Given the description of an element on the screen output the (x, y) to click on. 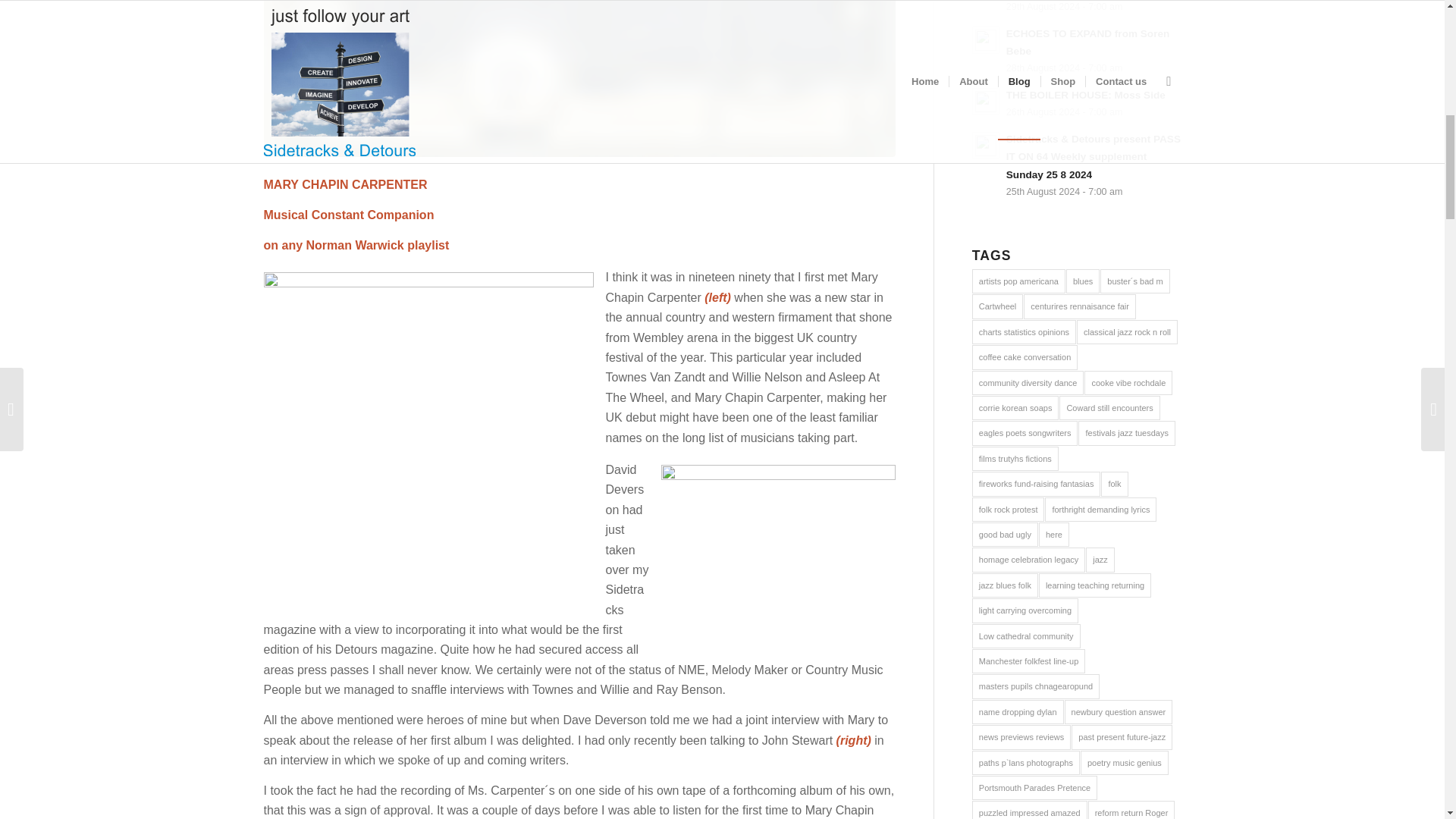
cover-3 (579, 78)
ECHOES TO EXPAND from Soren Bebe (1076, 49)
